Given the description of an element on the screen output the (x, y) to click on. 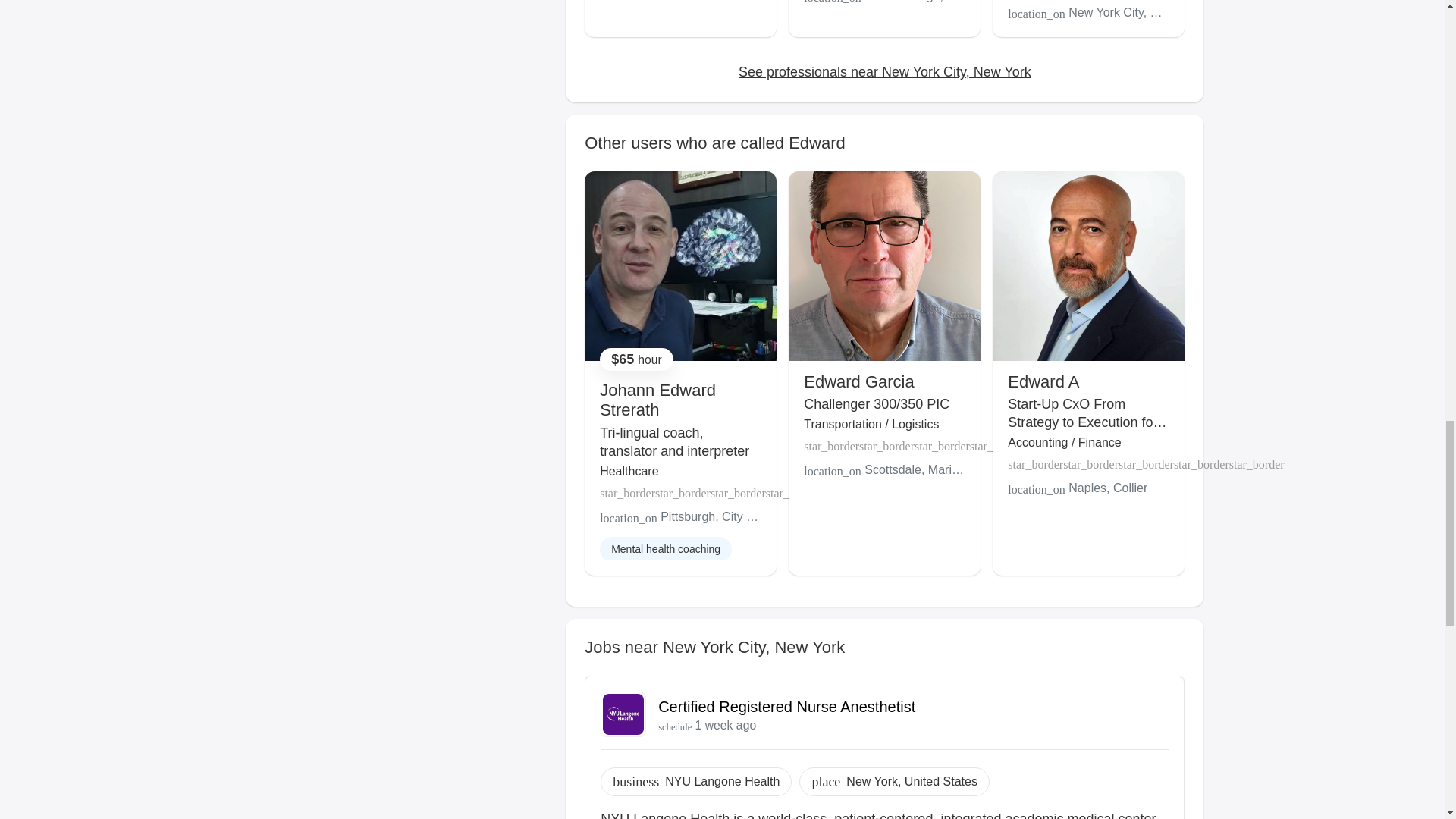
Edward A (1042, 381)
Edward A (1042, 381)
Certified Registered Nurse Anesthetist (786, 706)
Edward Garcia (858, 381)
Edward Garcia (858, 381)
New York, United States (910, 781)
See professionals near New York City, New York (884, 71)
NYU Langone Health (721, 781)
Johann Edward Strerath (657, 399)
Johann Edward Strerath (657, 399)
